Given the description of an element on the screen output the (x, y) to click on. 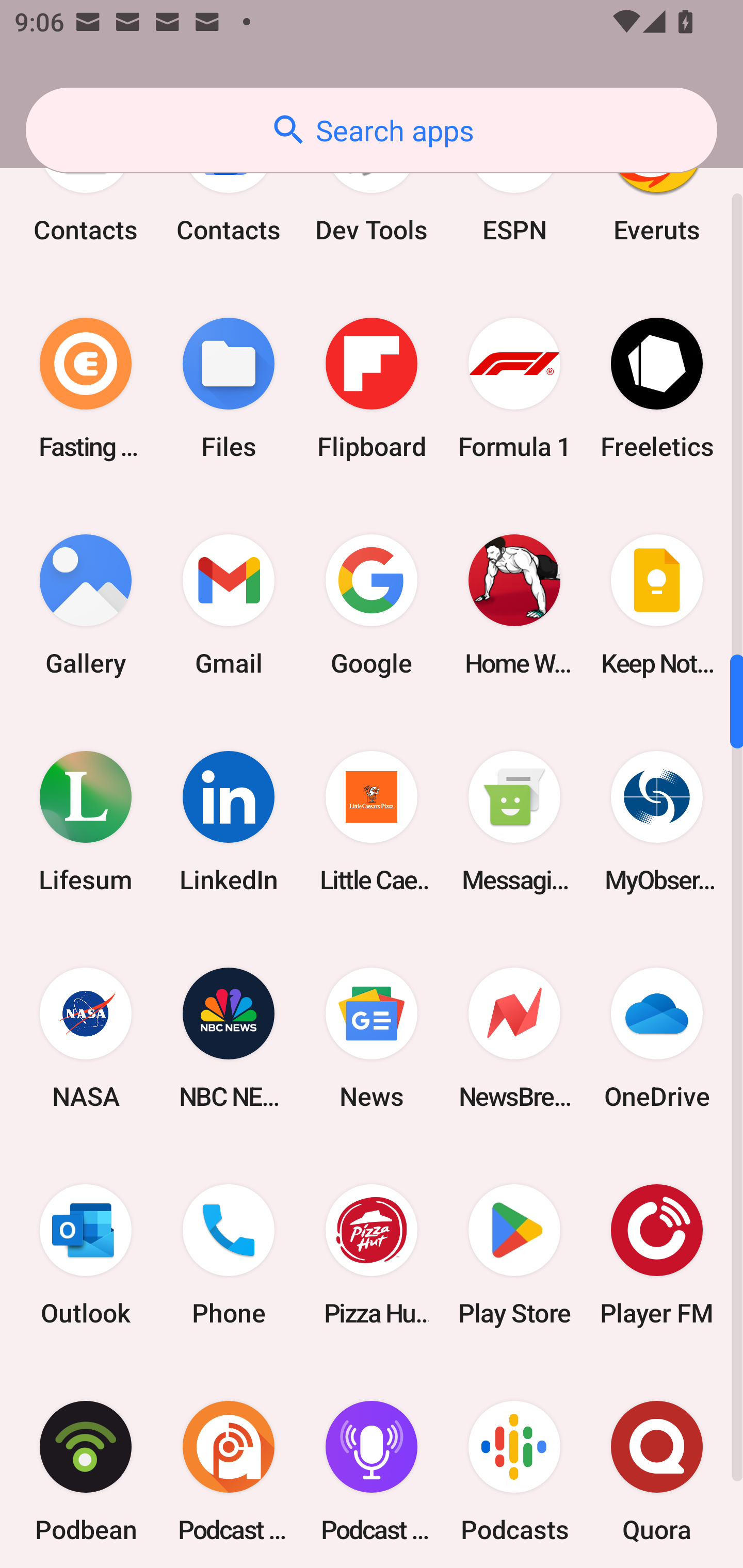
  Search apps (371, 130)
Fasting Coach (85, 388)
Files (228, 388)
Flipboard (371, 388)
Formula 1 (514, 388)
Freeletics (656, 388)
Gallery (85, 605)
Gmail (228, 605)
Google (371, 605)
Home Workout (514, 605)
Keep Notes (656, 605)
Lifesum (85, 821)
LinkedIn (228, 821)
Little Caesars Pizza (371, 821)
Messaging (514, 821)
MyObservatory (656, 821)
NASA (85, 1037)
NBC NEWS (228, 1037)
News (371, 1037)
NewsBreak (514, 1037)
OneDrive (656, 1037)
Outlook (85, 1254)
Phone (228, 1254)
Pizza Hut HK & Macau (371, 1254)
Play Store (514, 1254)
Player FM (656, 1254)
Podbean (85, 1465)
Podcast Addict (228, 1465)
Podcast Player (371, 1465)
Podcasts (514, 1465)
Quora (656, 1465)
